Given the description of an element on the screen output the (x, y) to click on. 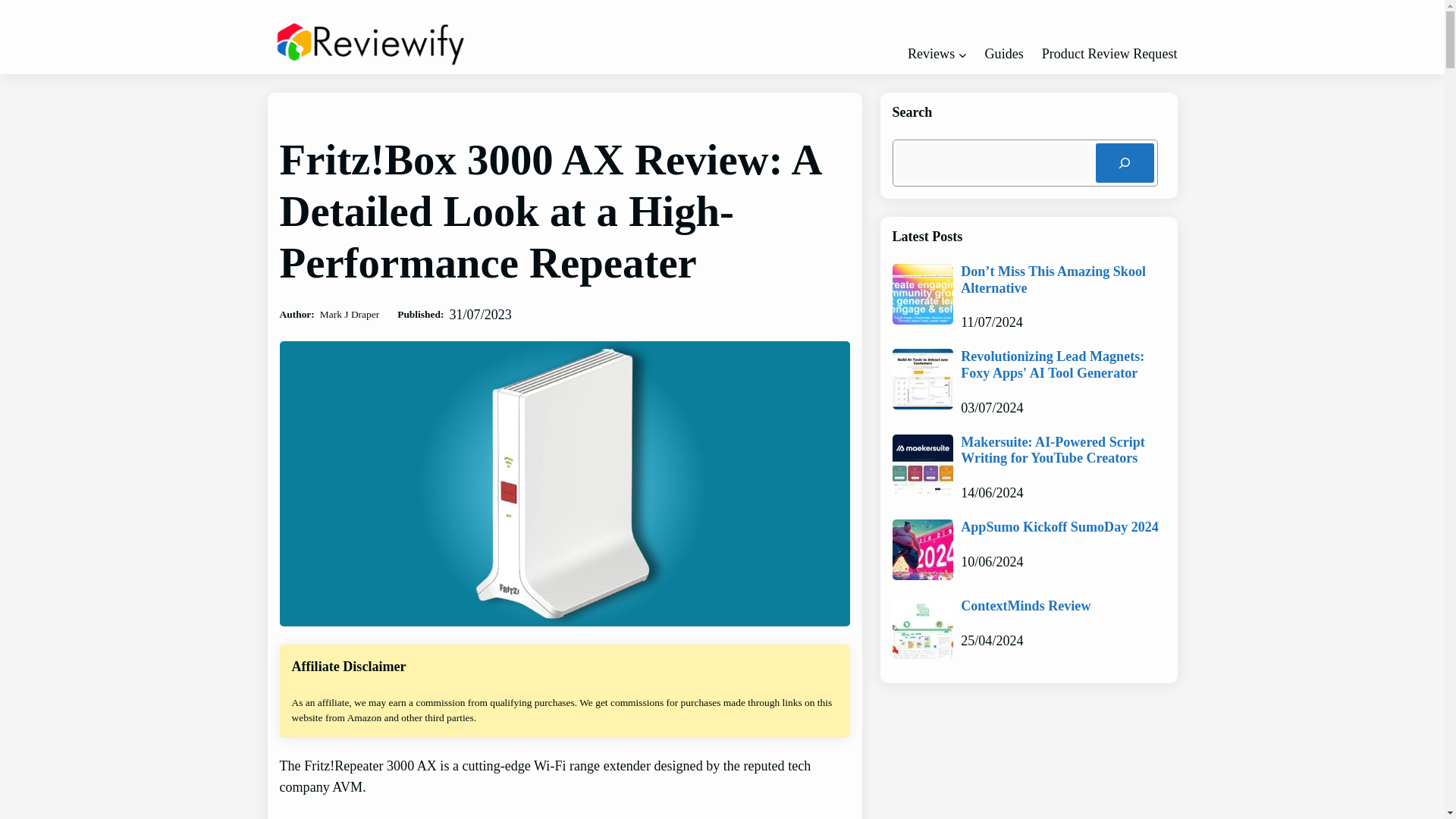
Revolutionizing Lead Magnets: Foxy Apps' AI Tool Generator (1062, 364)
AppSumo Kickoff SumoDay 2024 (1059, 527)
Guides (1004, 53)
Product Review Request (1109, 53)
Makersuite: AI-Powered Script Writing for YouTube Creators (1062, 450)
Reviews (931, 53)
